Given the description of an element on the screen output the (x, y) to click on. 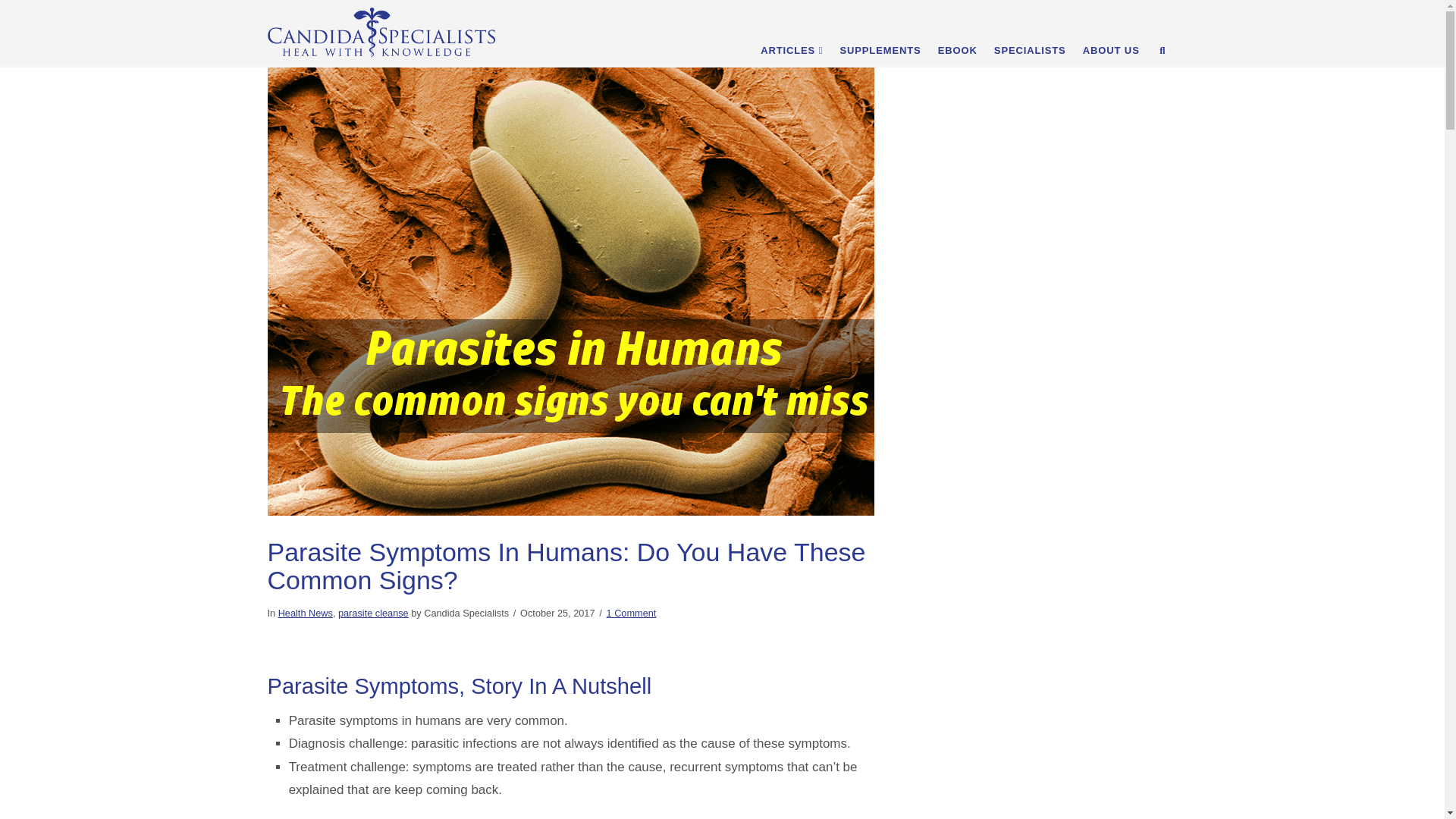
EBOOK (957, 30)
ABOUT US (1111, 30)
ARTICLES (791, 30)
SUPPLEMENTS (879, 30)
SPECIALISTS (1029, 30)
